Given the description of an element on the screen output the (x, y) to click on. 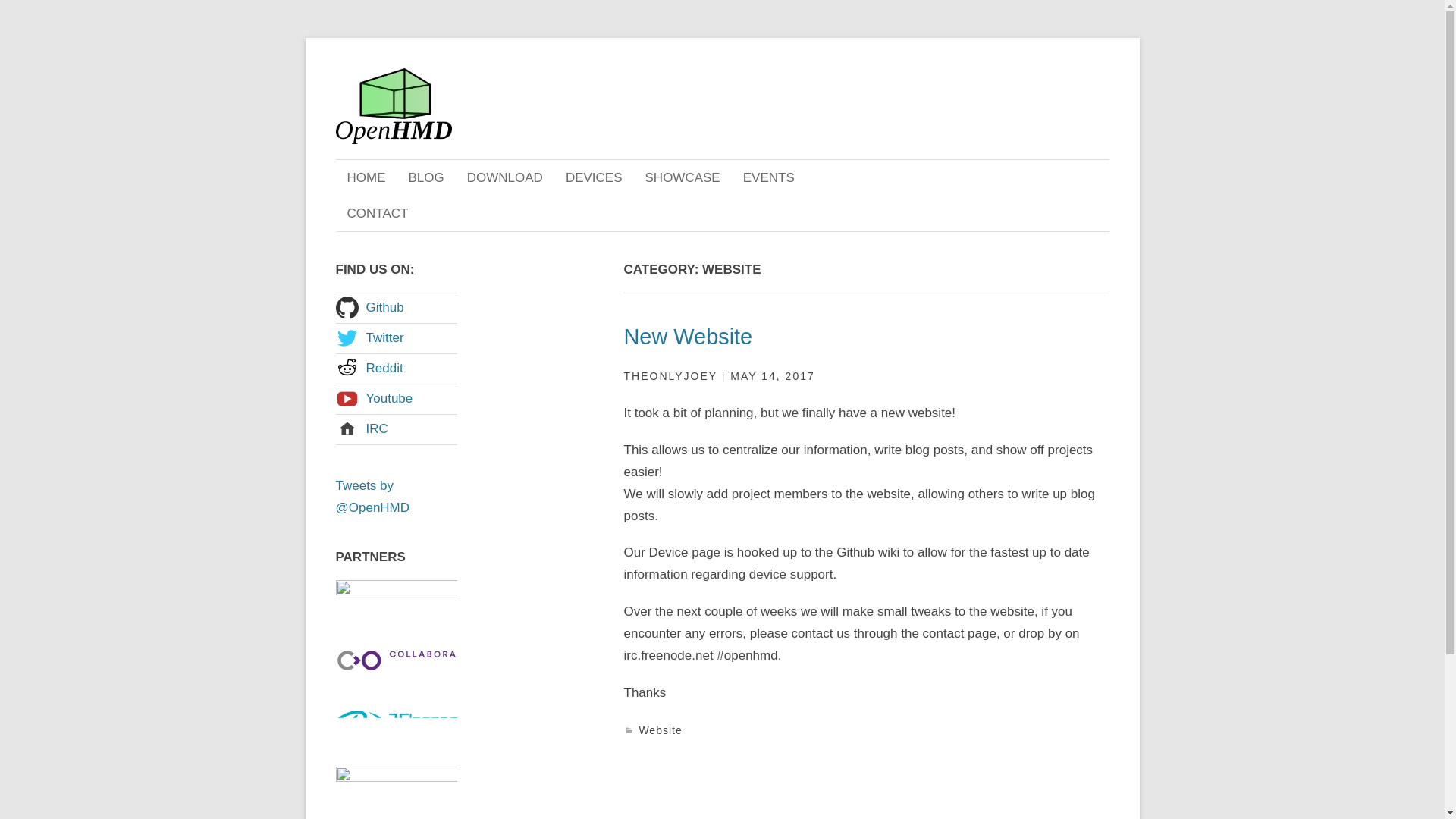
Github (395, 308)
SHOWCASE (682, 177)
MAY 14, 2017 (771, 376)
Posts by TheOnlyJoey (669, 376)
New Website (687, 336)
CONTACT (376, 212)
HOME (365, 177)
THEONLYJOEY (669, 376)
DOWNLOAD (504, 177)
BLOG (426, 177)
IRC (395, 429)
Twitter (395, 338)
Website (660, 729)
EVENTS (769, 177)
DEVICES (593, 177)
